Given the description of an element on the screen output the (x, y) to click on. 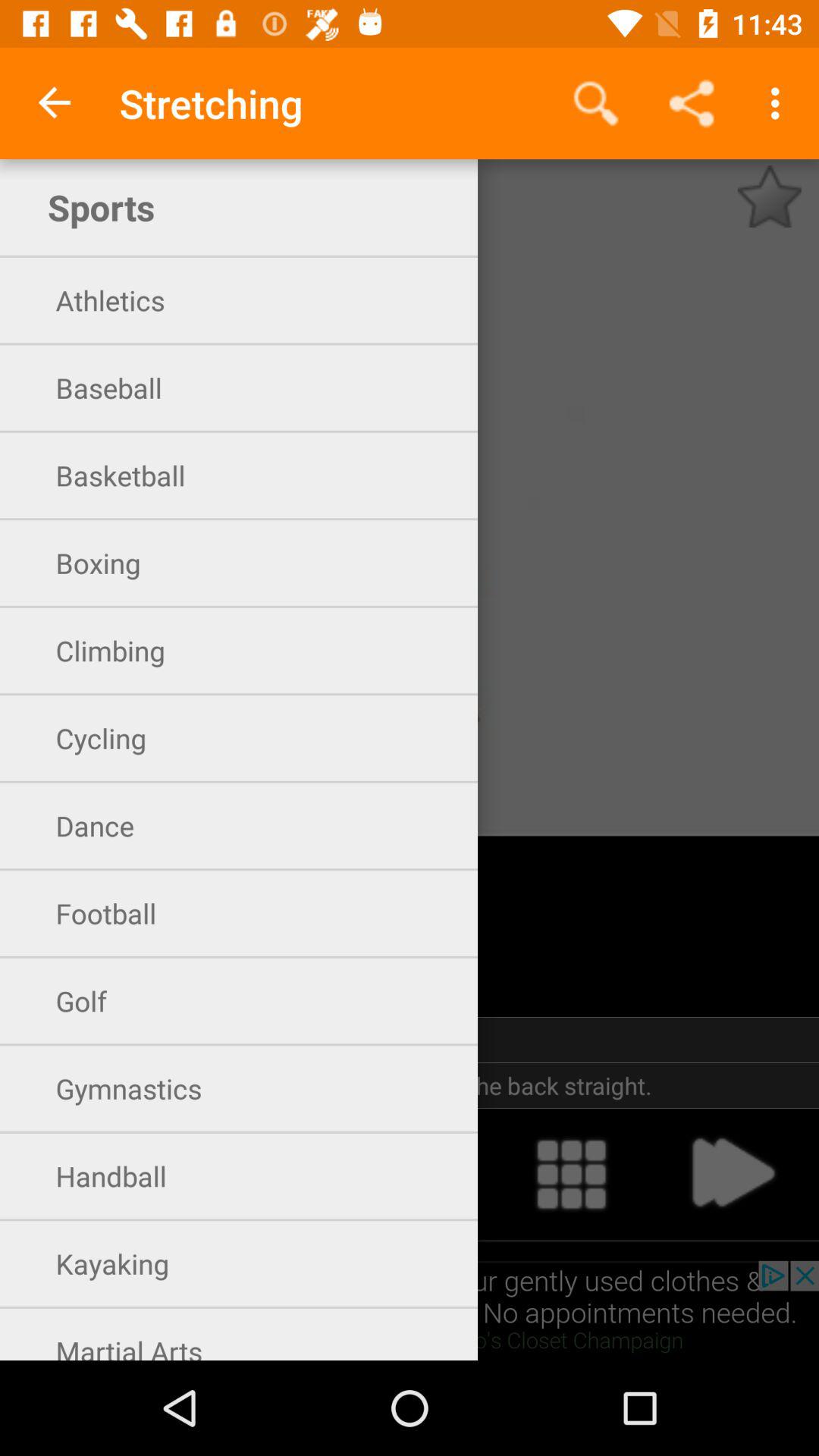
open item above 7/16 (595, 103)
